Given the description of an element on the screen output the (x, y) to click on. 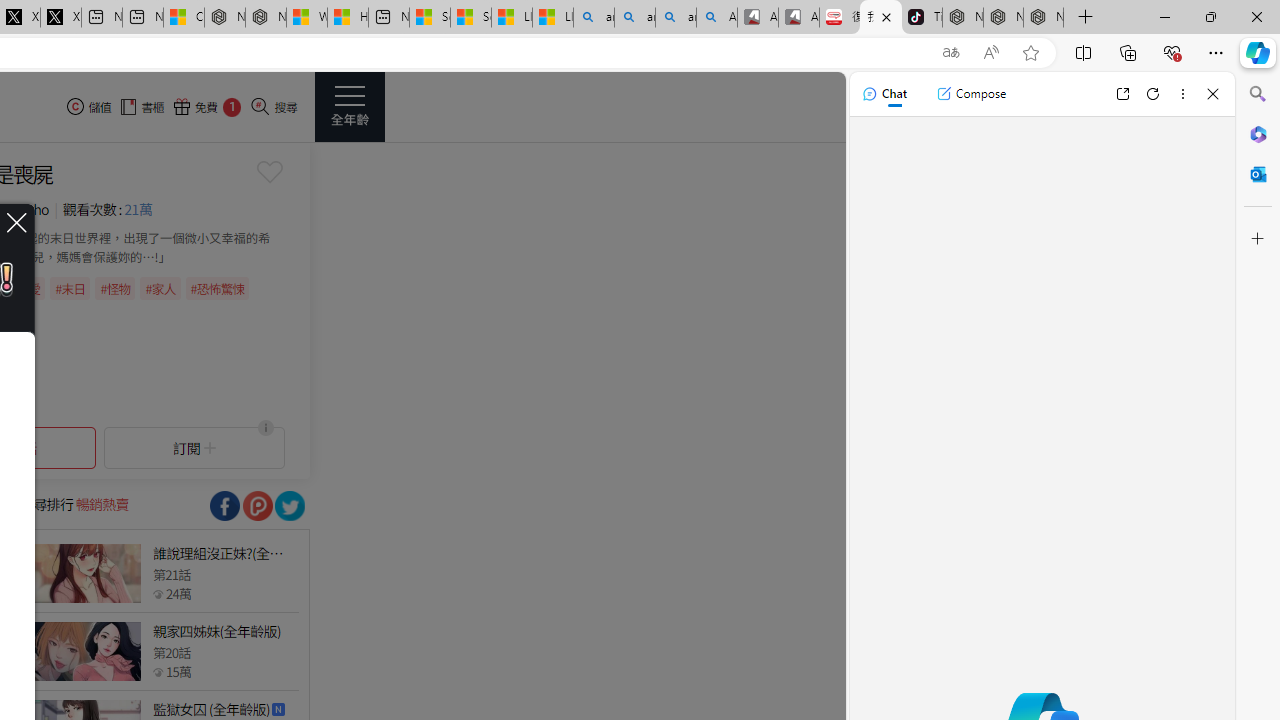
More options (1182, 93)
